Given the description of an element on the screen output the (x, y) to click on. 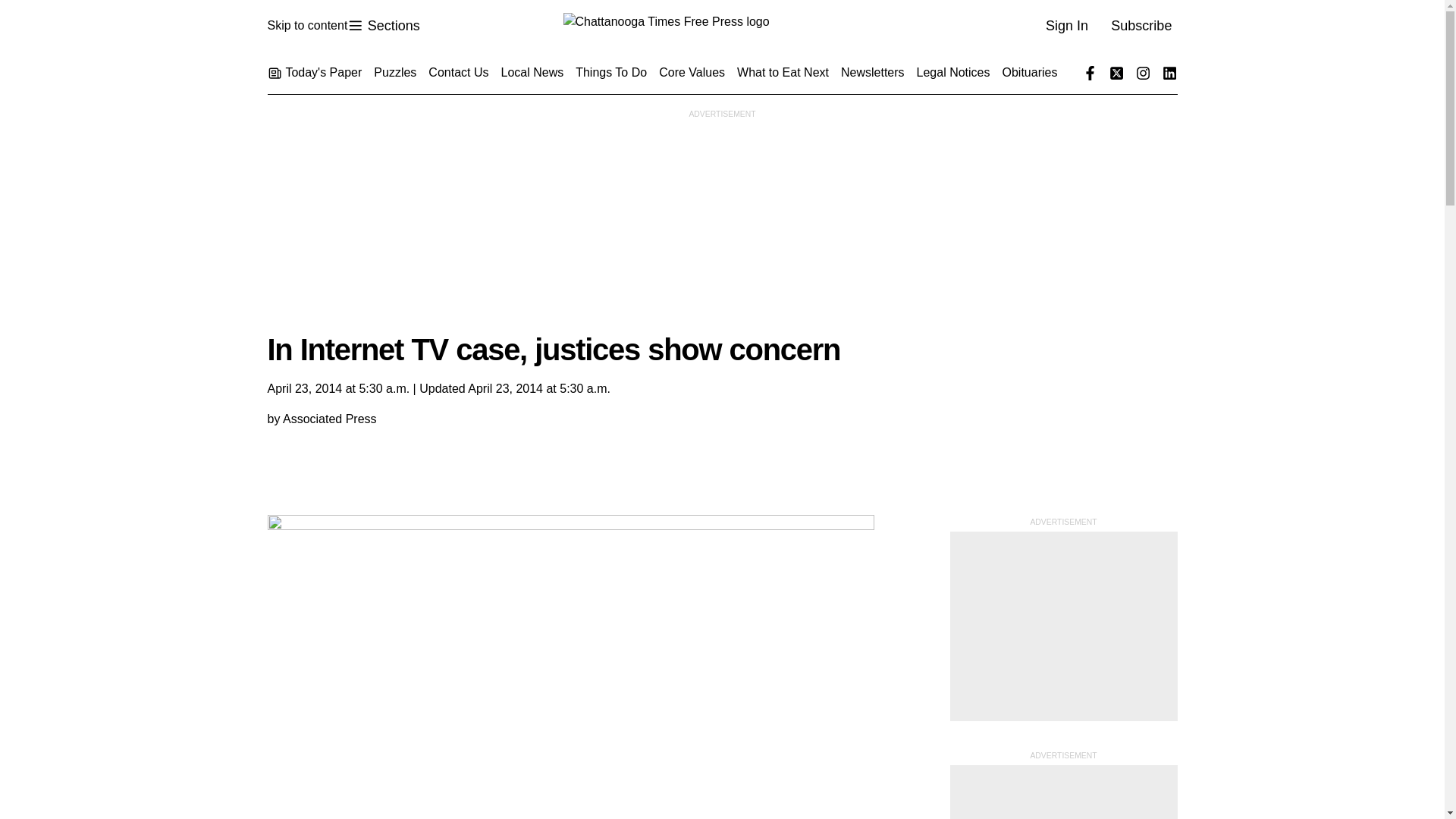
Skip to content (306, 25)
Times Free Press (383, 25)
